Given the description of an element on the screen output the (x, y) to click on. 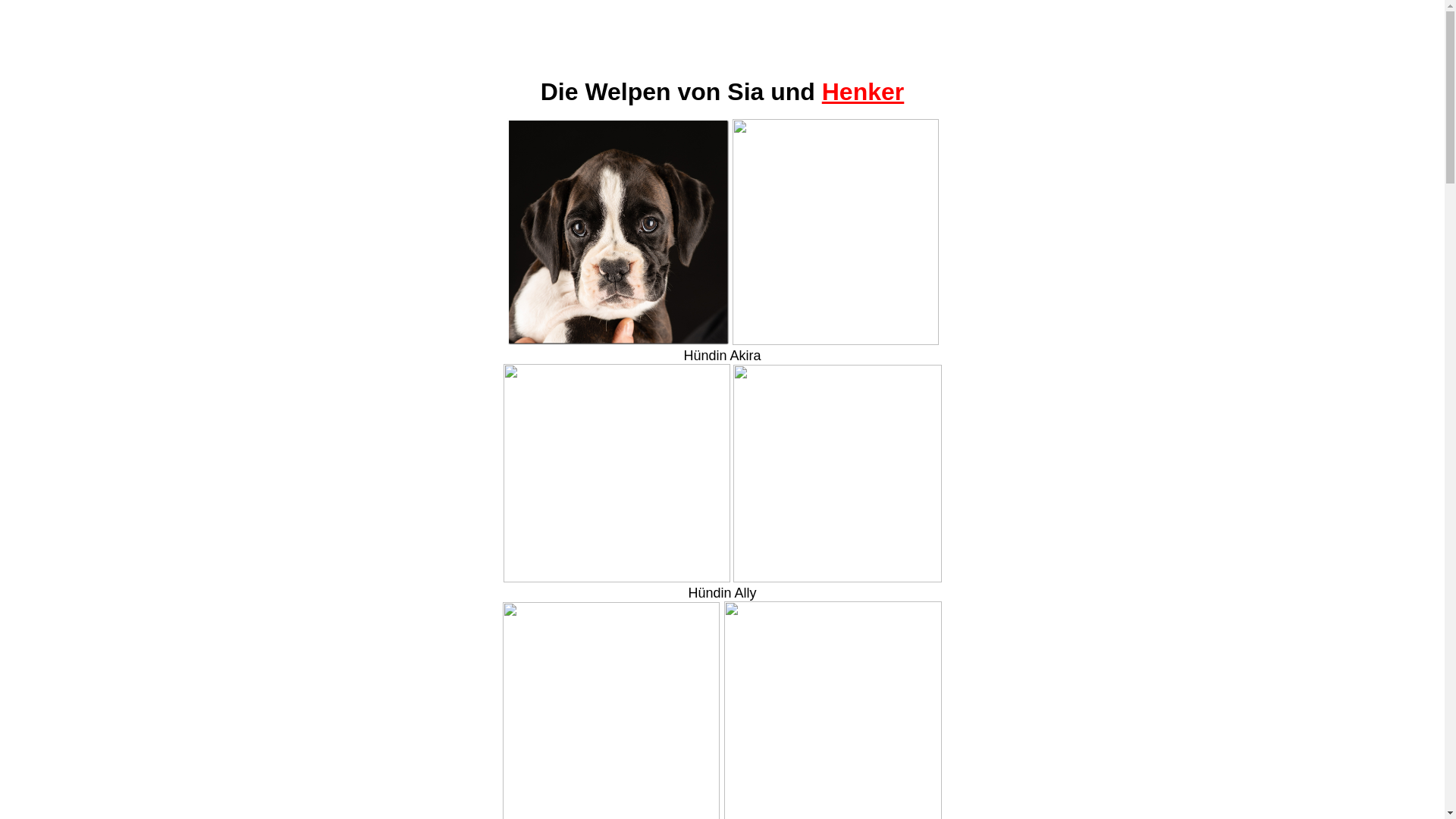
Henker Element type: text (863, 91)
